Given the description of an element on the screen output the (x, y) to click on. 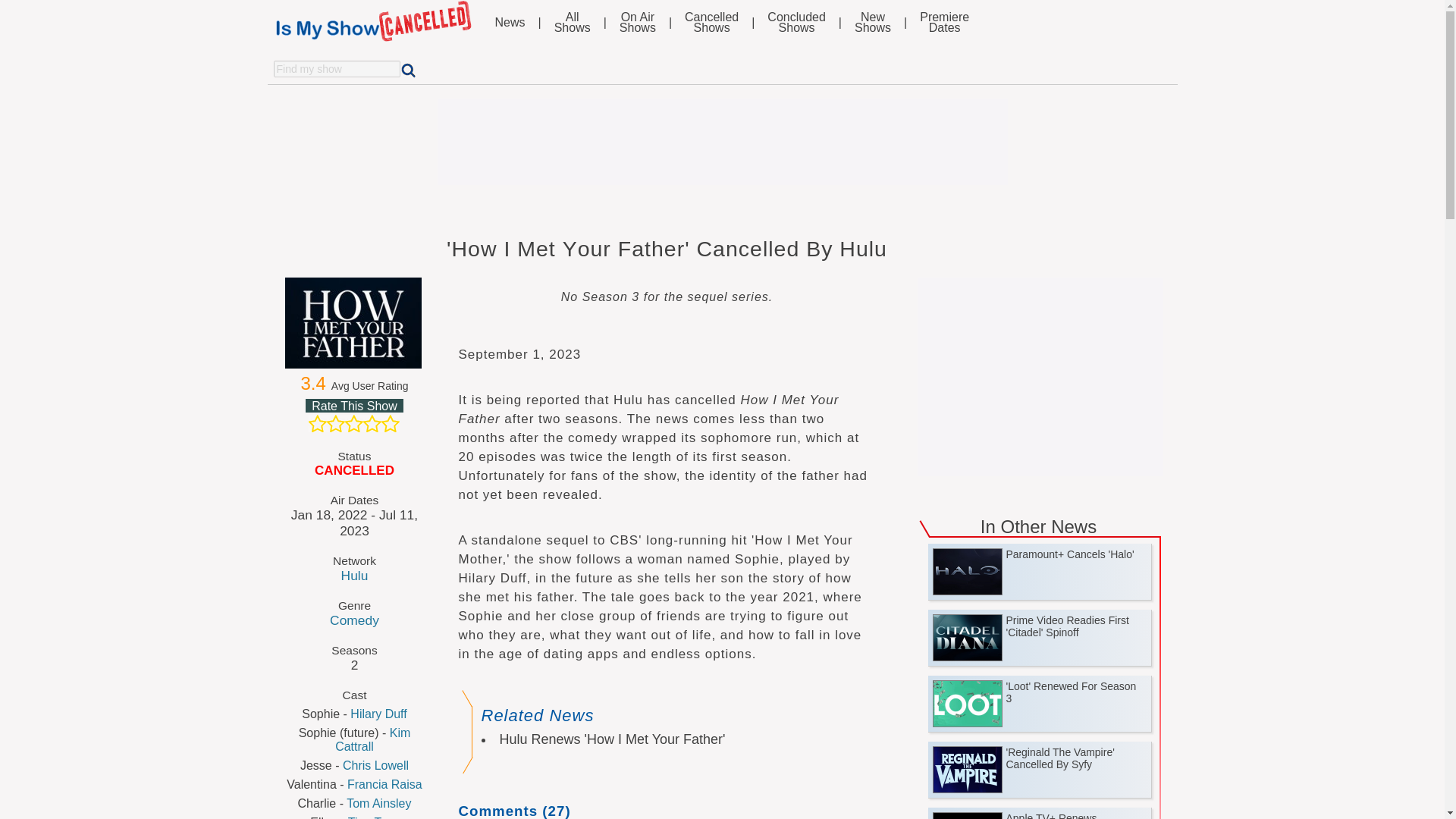
Excellent (389, 423)
Average (353, 423)
Advertisement (721, 141)
Chris Lowell (375, 765)
Kim Cattrall (372, 739)
Good (711, 22)
Tien Tran (944, 22)
Advertisement (371, 423)
Click on a star to rate (372, 817)
Tom Ainsley (1040, 371)
Bad (355, 405)
